Given the description of an element on the screen output the (x, y) to click on. 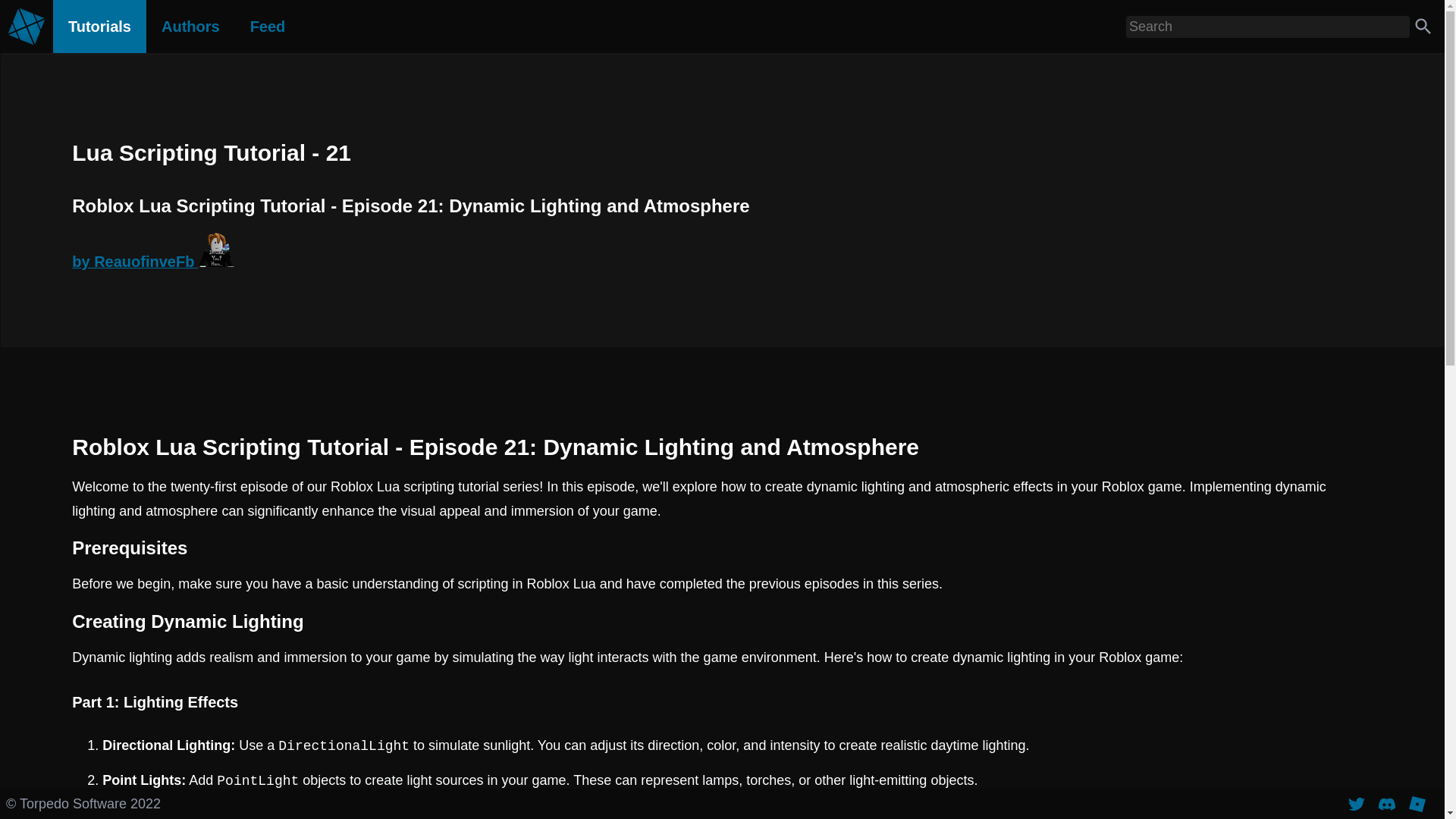
by ReauofinveFb (722, 252)
Feed (267, 27)
Tutorials (99, 27)
Authors (190, 27)
